Given the description of an element on the screen output the (x, y) to click on. 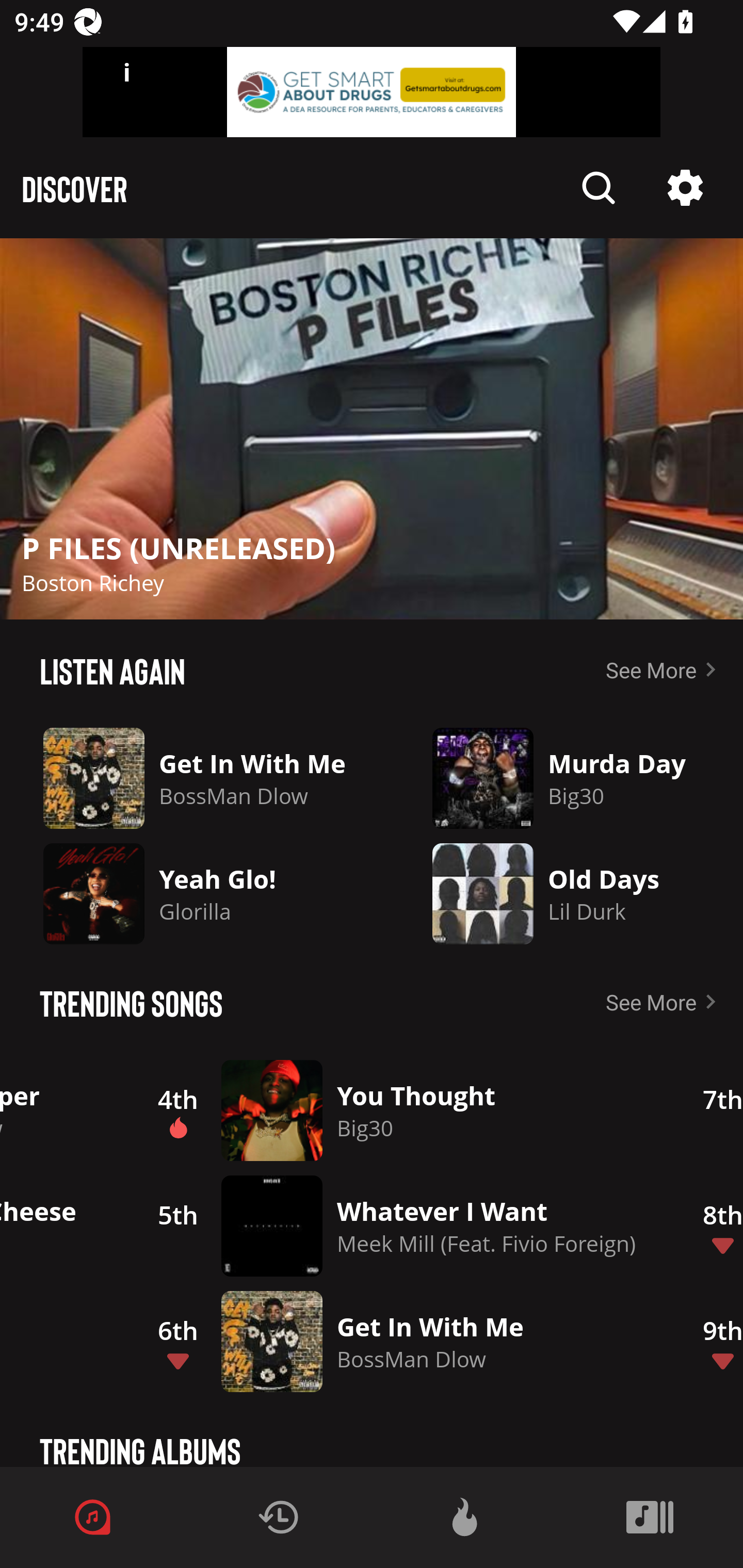
Description (598, 188)
Description (684, 188)
Description (371, 428)
See More (664, 669)
Description Get In With Me BossMan Dlow (201, 778)
Description Murda Day Big30 (566, 778)
Description Yeah Glo! Glorilla (201, 893)
Description Old Days Lil Durk (566, 893)
See More (664, 1001)
4th Description Description You Thought Big30 (399, 1110)
